Given the description of an element on the screen output the (x, y) to click on. 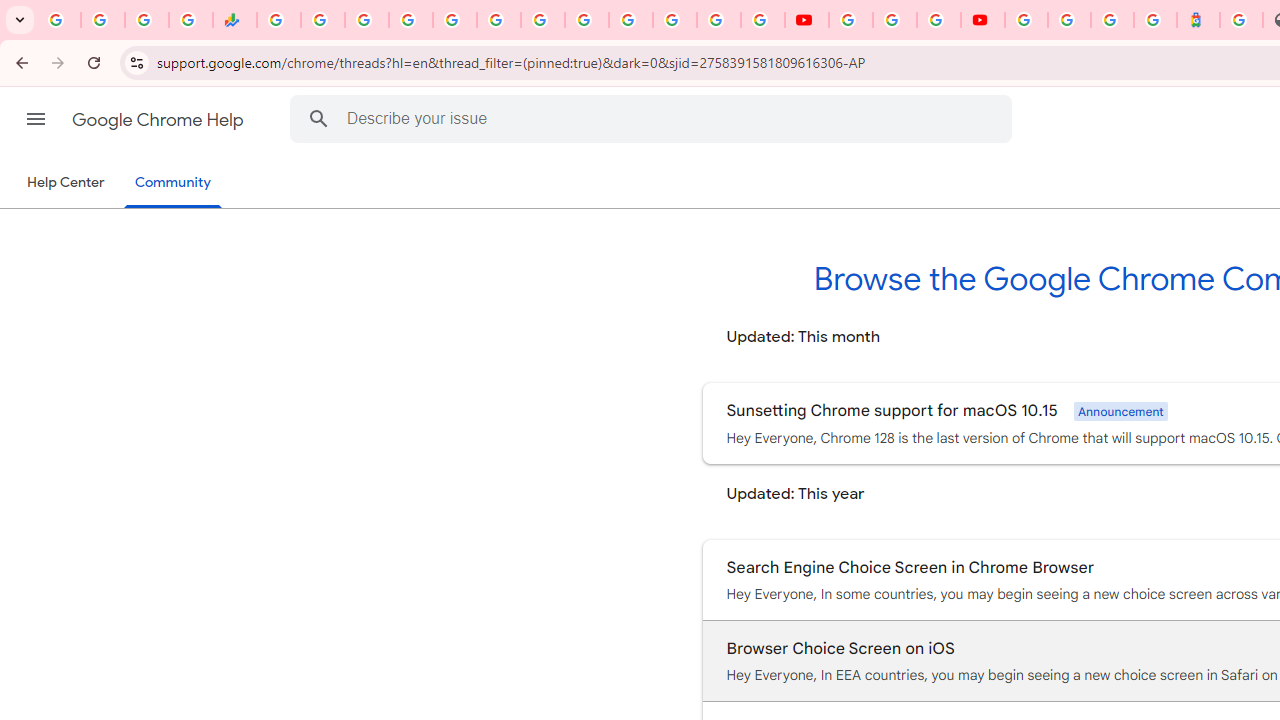
Android TV Policies and Guidelines - Transparency Center (542, 20)
Privacy Checkup (762, 20)
Sign in - Google Accounts (630, 20)
Google Chrome Help (159, 119)
YouTube (850, 20)
YouTube (806, 20)
